Given the description of an element on the screen output the (x, y) to click on. 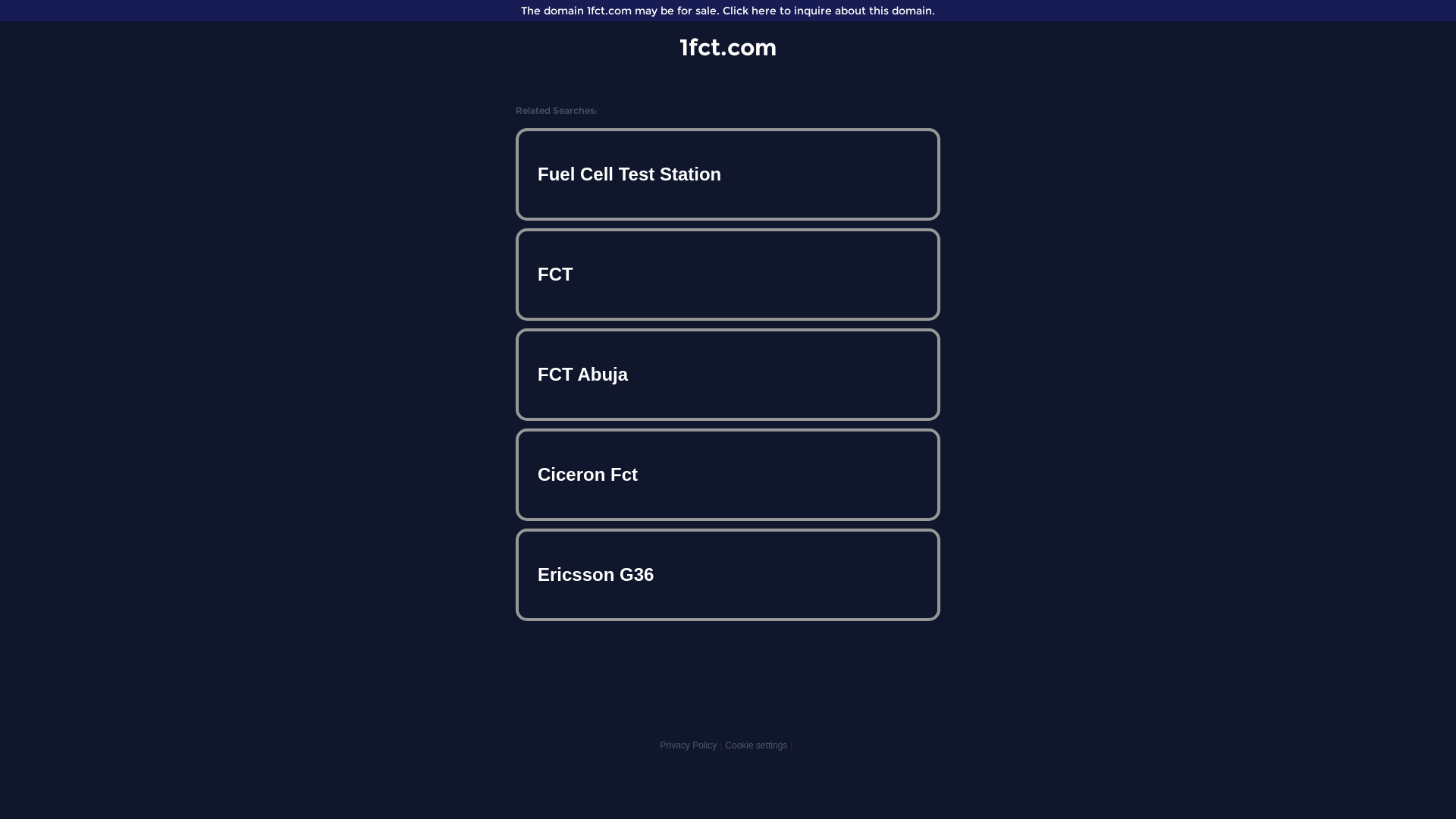
FCT Element type: text (727, 274)
1fct.com Element type: text (727, 47)
Ciceron Fct Element type: text (727, 474)
Fuel Cell Test Station Element type: text (727, 174)
Privacy Policy Element type: text (687, 745)
FCT Abuja Element type: text (727, 374)
Cookie settings Element type: text (755, 745)
Ericsson G36 Element type: text (727, 574)
